Given the description of an element on the screen output the (x, y) to click on. 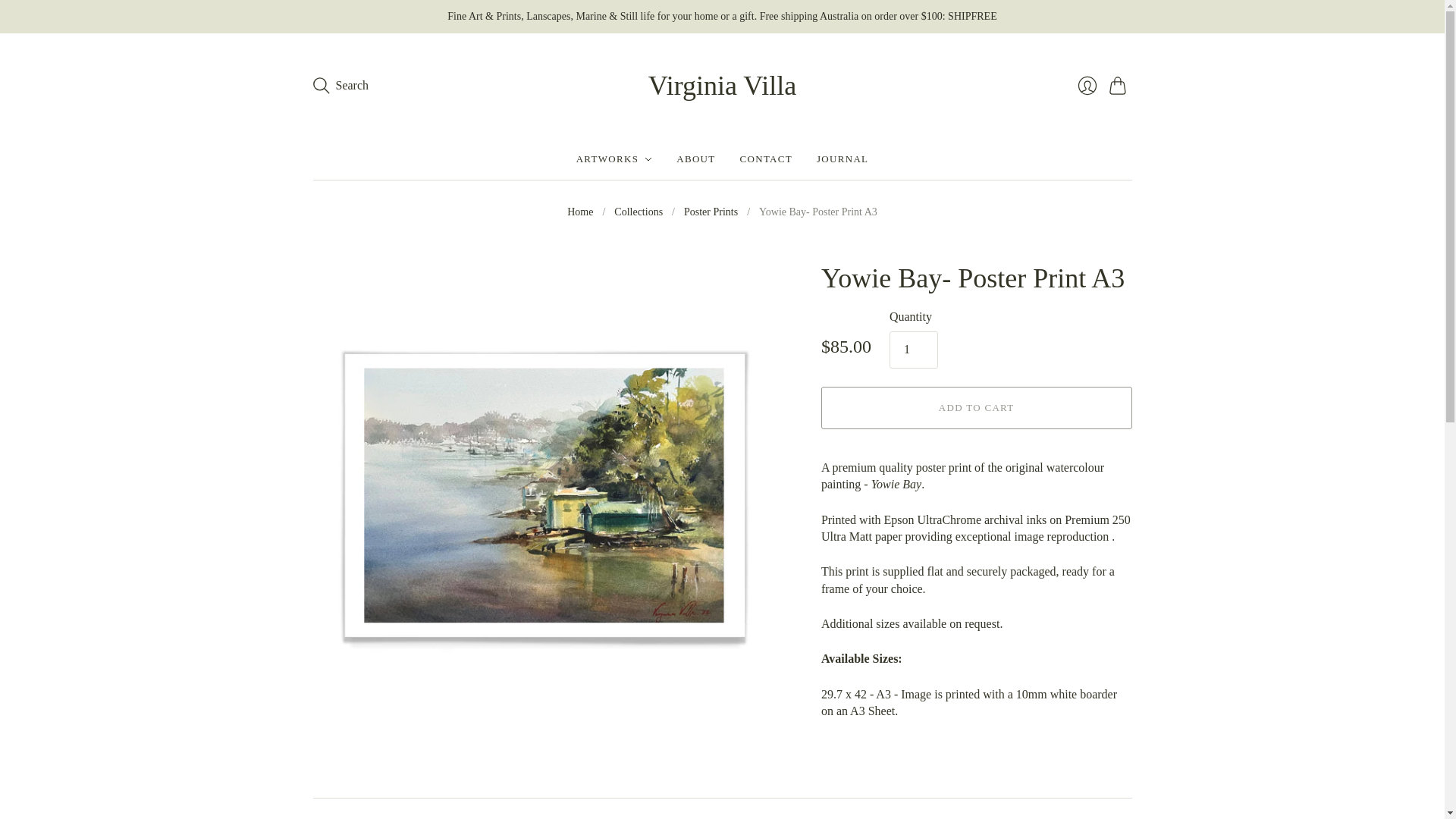
Collections (638, 212)
JOURNAL (841, 158)
ABOUT (695, 158)
Cart (1119, 85)
1 (913, 349)
Home (579, 212)
ADD TO CART (976, 407)
Virginia Villa (721, 85)
Poster Prints (711, 212)
CONTACT (765, 158)
Login (1086, 85)
Search (339, 85)
